Given the description of an element on the screen output the (x, y) to click on. 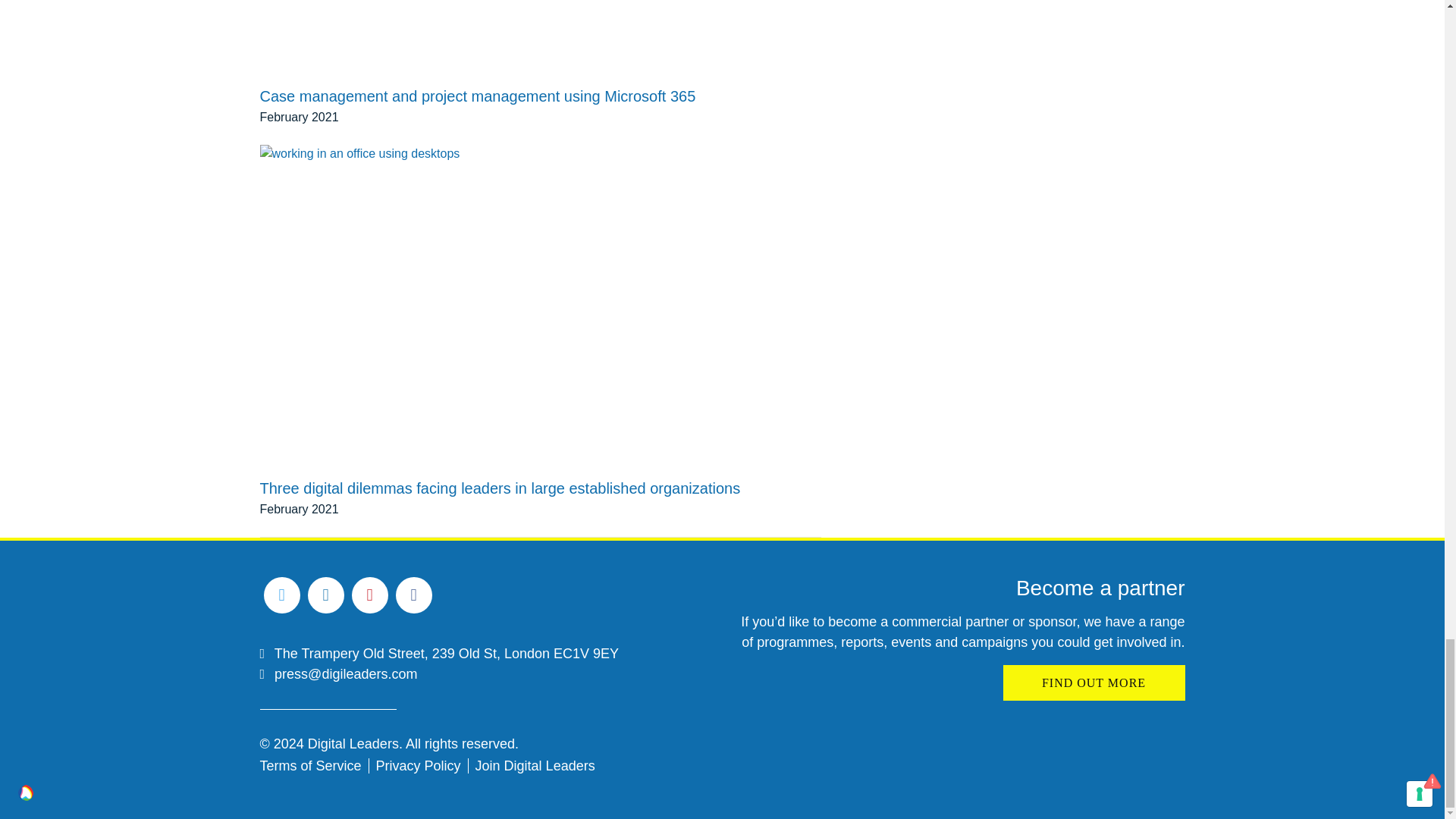
LinkedIn (325, 595)
WordPress website theme development (25, 792)
YouTube (370, 595)
Facebook (414, 595)
Case management and project management using Microsoft 365 (540, 27)
Twitter (281, 595)
Case management and project management using Microsoft 365 (477, 71)
